Given the description of an element on the screen output the (x, y) to click on. 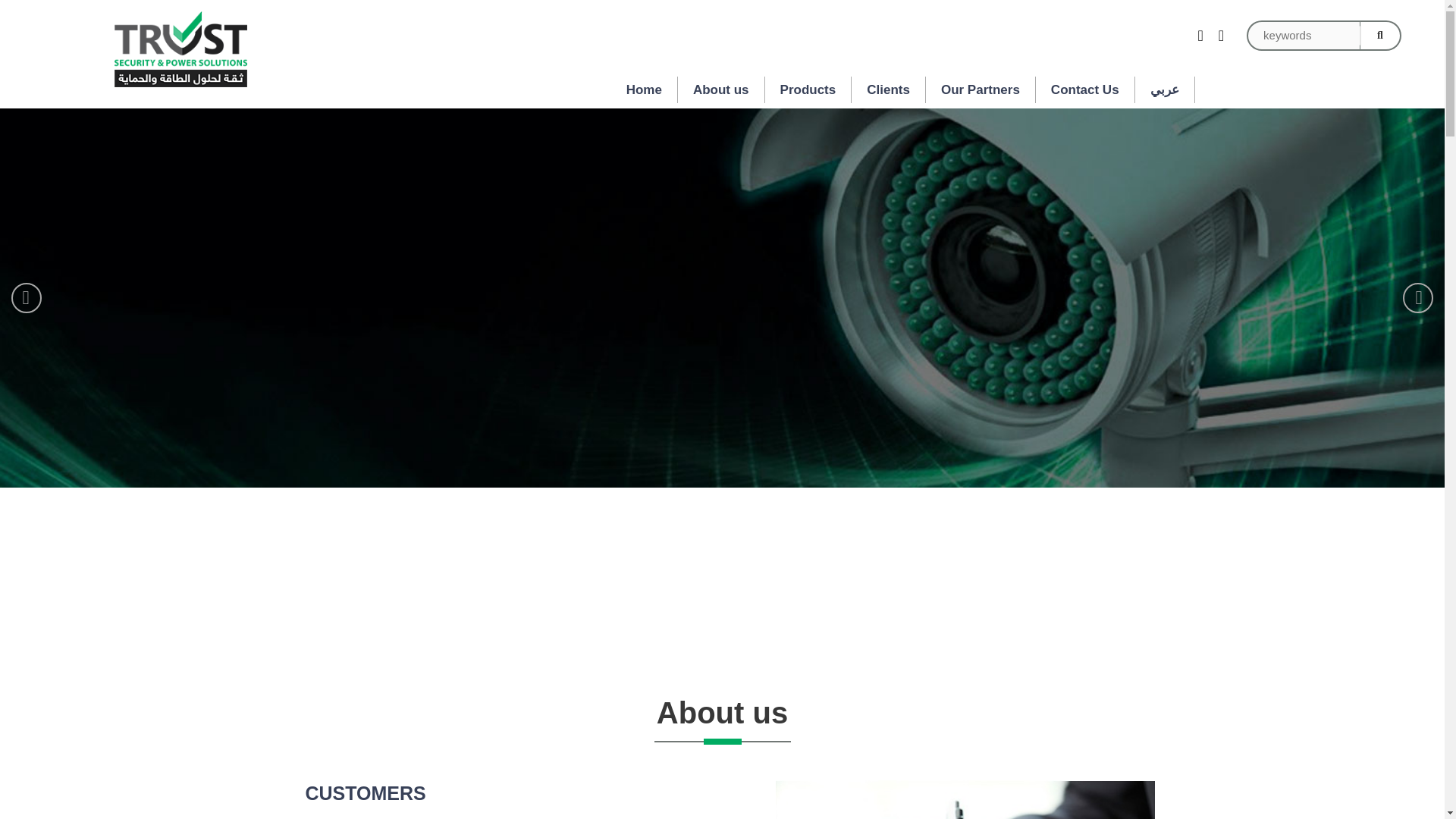
Products (808, 89)
Home (644, 89)
About us (721, 89)
Clients (888, 89)
Our Partners (980, 89)
Contact Us (1085, 89)
